Given the description of an element on the screen output the (x, y) to click on. 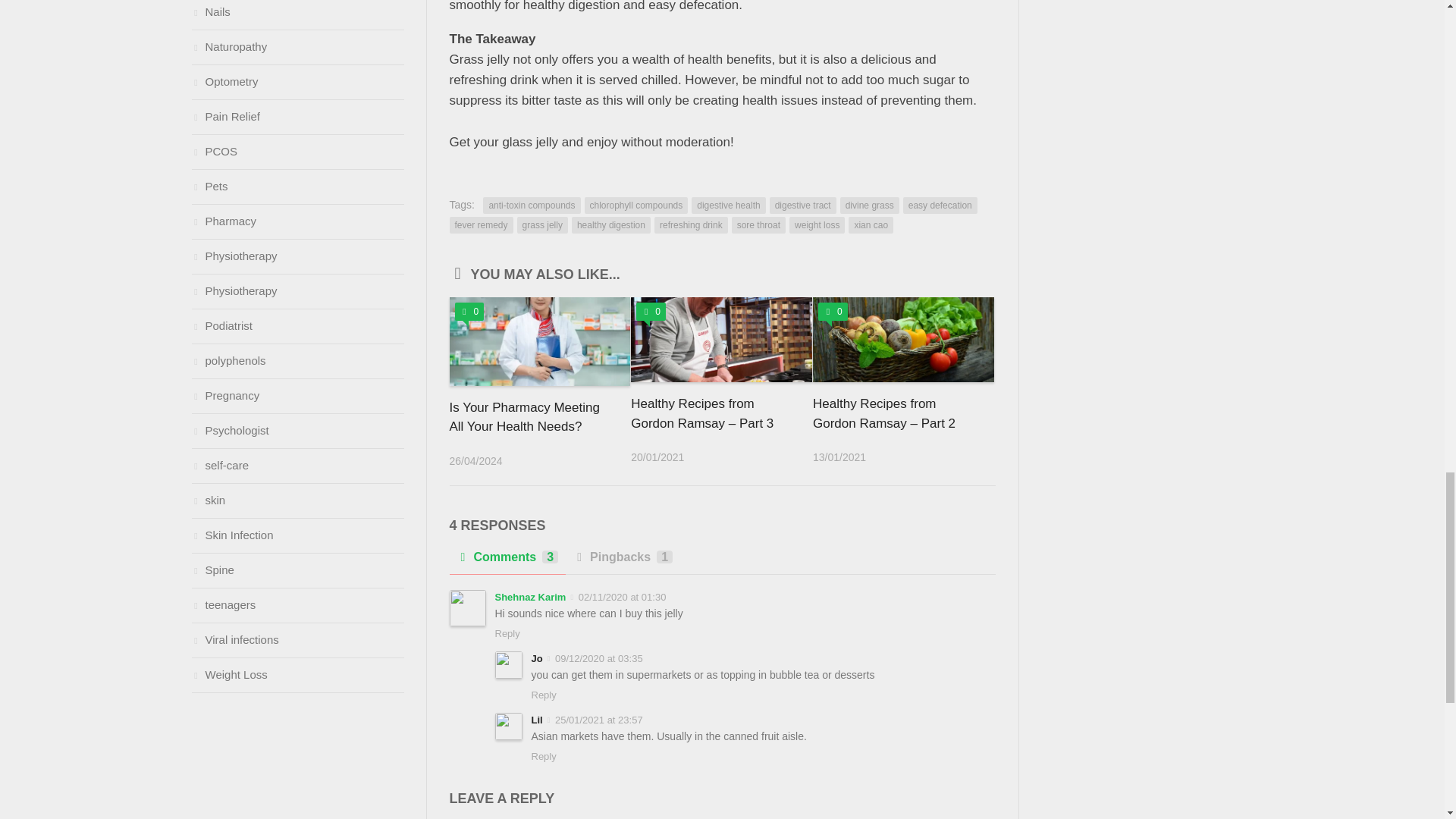
0 (650, 311)
refreshing drink (690, 225)
healthy digestion (611, 225)
easy defecation (939, 205)
sore throat (759, 225)
grass jelly (541, 225)
digestive tract (802, 205)
0 (469, 311)
chlorophyll compounds (635, 205)
anti-toxin compounds (531, 205)
divine grass (869, 205)
xian cao (870, 225)
0 (832, 311)
digestive health (728, 205)
Is Your Pharmacy Meeting All Your Health Needs? (523, 417)
